Given the description of an element on the screen output the (x, y) to click on. 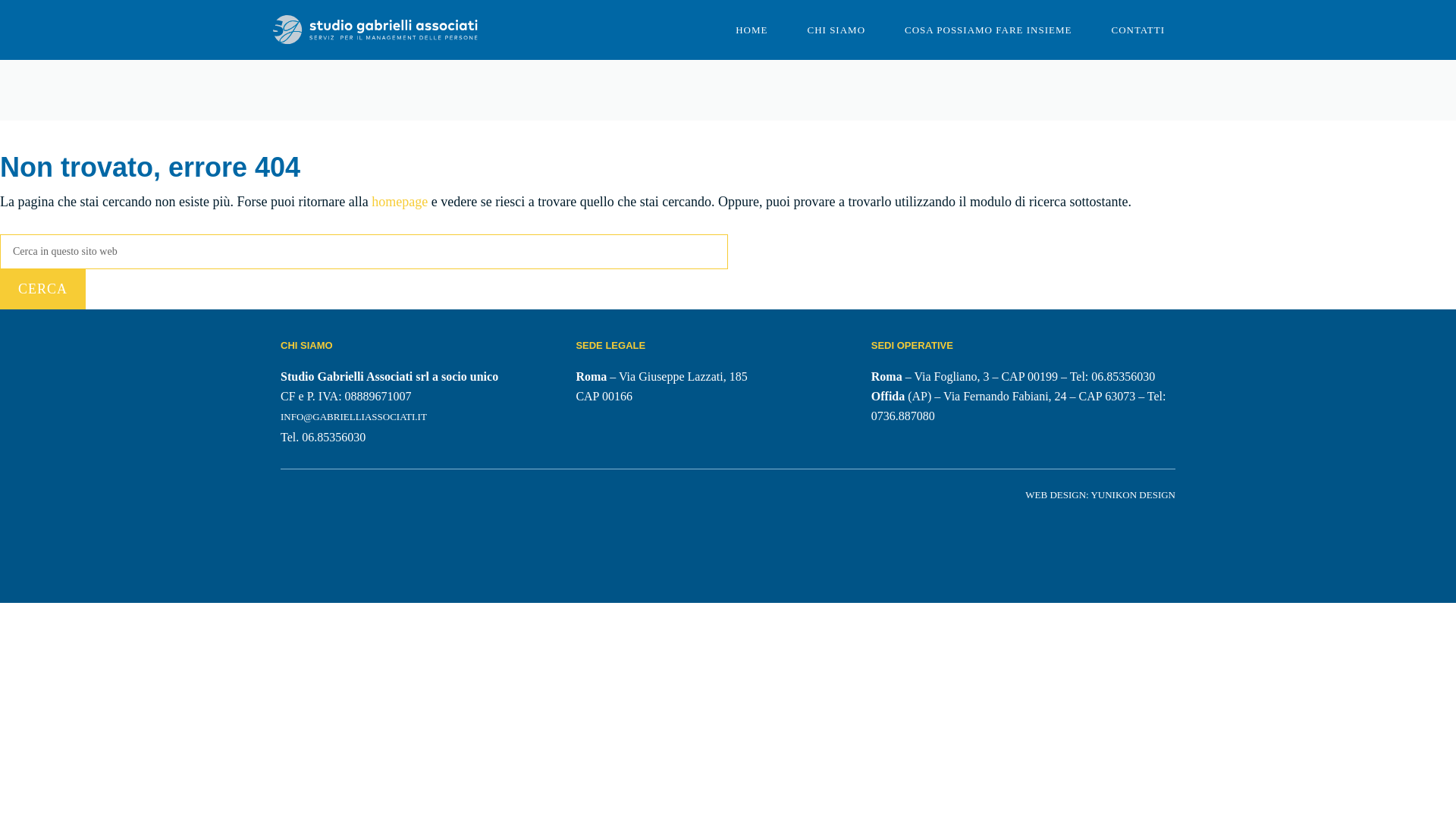
Cerca (42, 289)
COSA POSSIAMO FARE INSIEME (987, 29)
WEB DESIGN: YUNIKON DESIGN (1099, 494)
HOME (751, 29)
Cerca (42, 289)
CONTATTI (1137, 29)
CHI SIAMO (836, 29)
Cerca (42, 289)
Gabrielli Associati (375, 29)
Gabrielli Associati (375, 30)
